Given the description of an element on the screen output the (x, y) to click on. 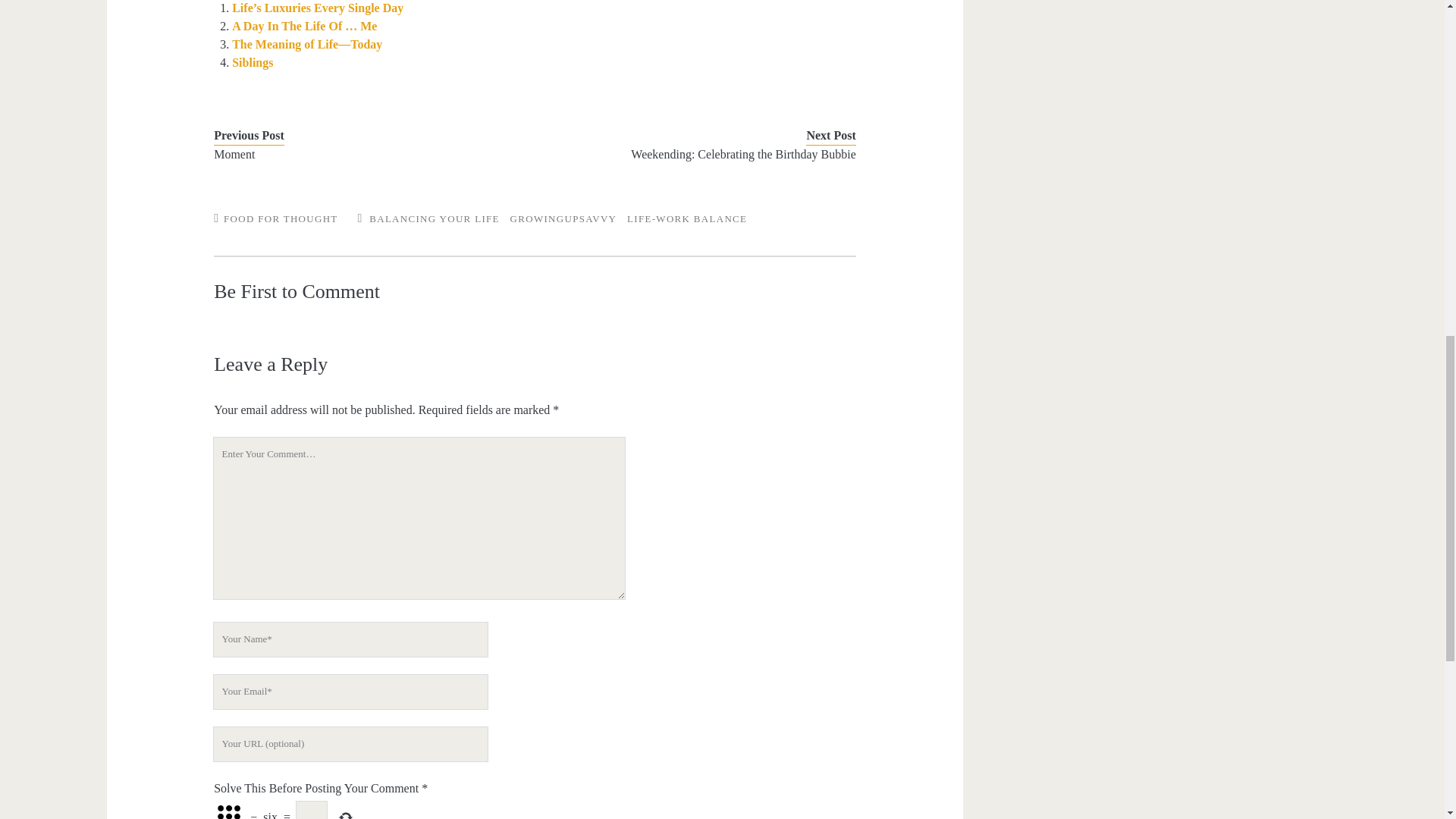
View all posts tagged growingupsavvy (564, 218)
View all posts tagged balancing your life (434, 218)
View all posts in Food For Thought (280, 218)
View all posts tagged life-work balance (686, 218)
Siblings (252, 62)
